Given the description of an element on the screen output the (x, y) to click on. 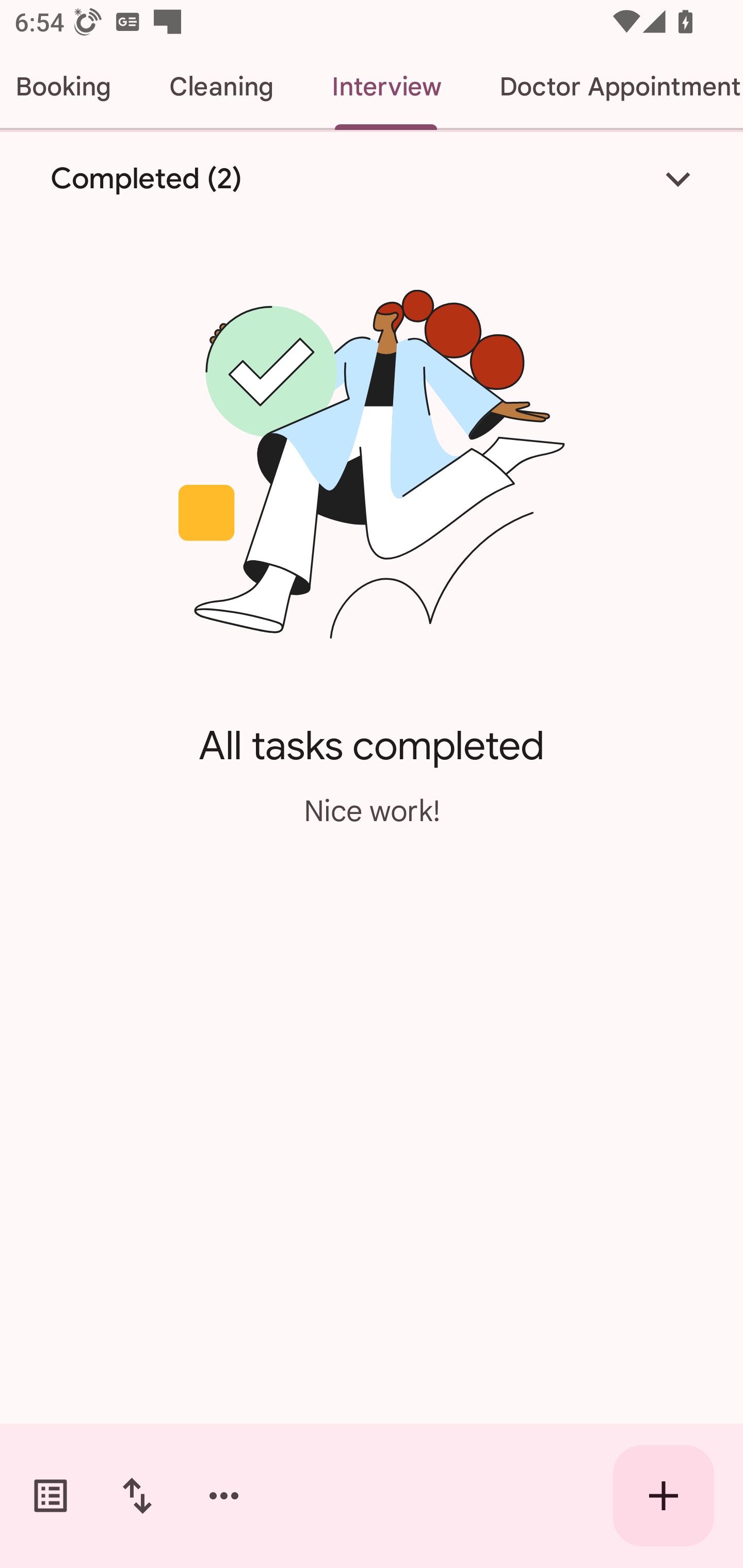
Hotel Booking (69, 86)
Cleaning (220, 86)
Doctor Appointment (606, 86)
Completed (2) (371, 178)
Switch task lists (50, 1495)
Create new task (663, 1495)
Change sort order (136, 1495)
More options (223, 1495)
